Given the description of an element on the screen output the (x, y) to click on. 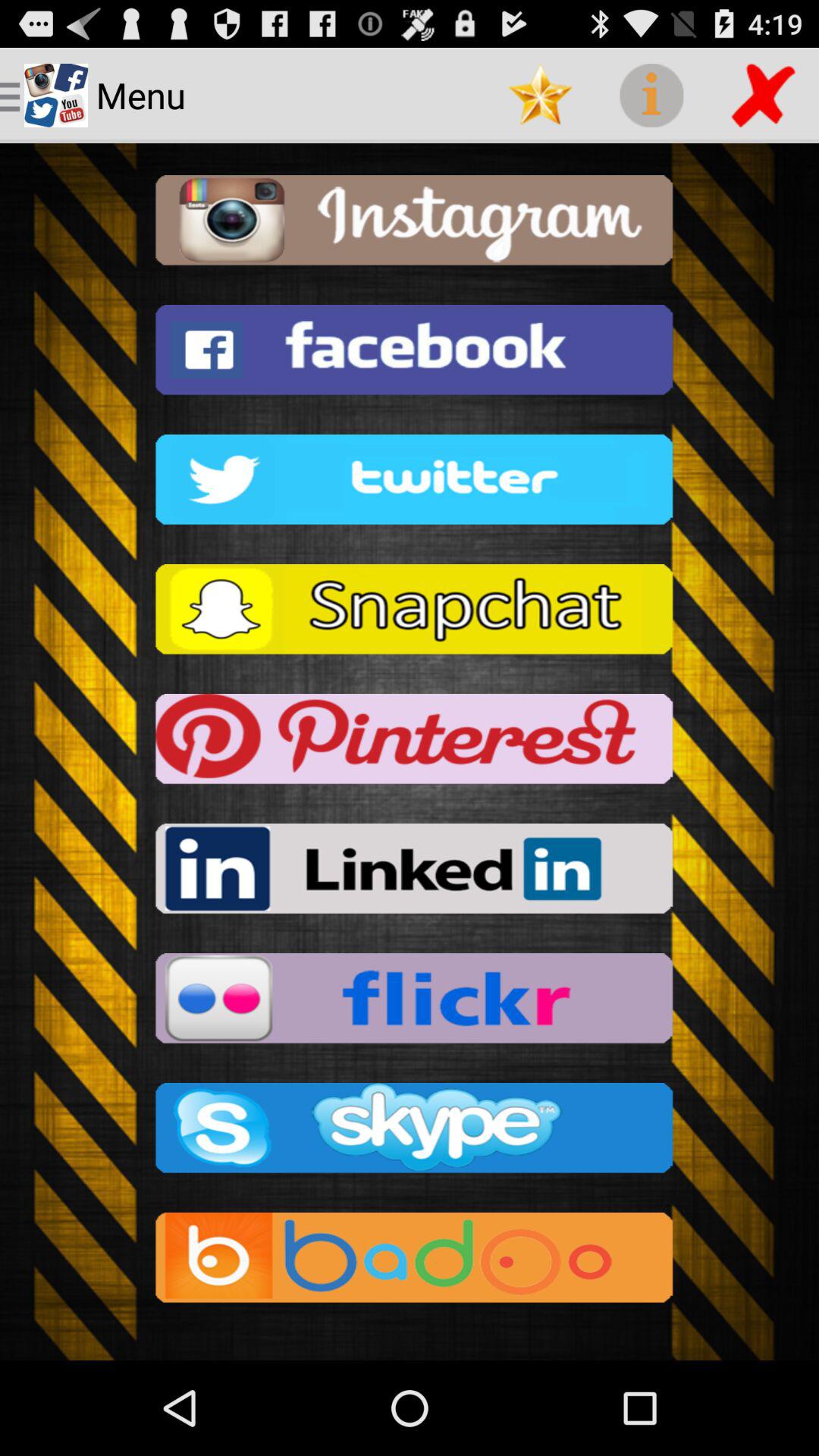
click on linked in field (409, 873)
go to the image below the twitter (409, 613)
click on the last option of the page (409, 1261)
click on the button which is above the snapchat (409, 483)
click on info icon which is next to star icon (651, 95)
